Given the description of an element on the screen output the (x, y) to click on. 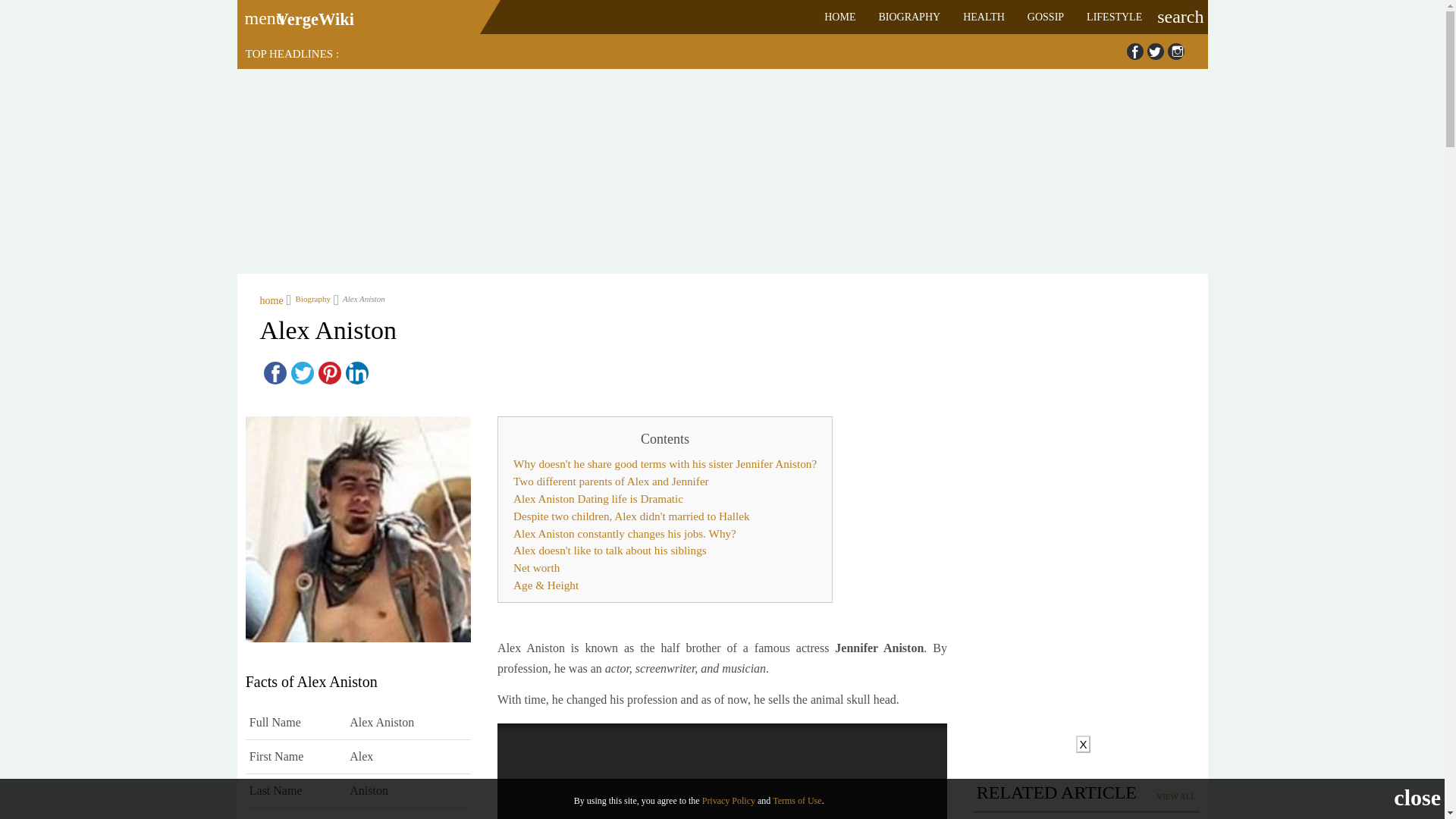
home (270, 298)
American (373, 818)
Terms of Use (797, 800)
HOME (839, 17)
Two different parents of Alex and Jennifer (664, 481)
Privacy Policy (728, 800)
GOSSIP (1045, 17)
menu (259, 13)
VergeWiki (314, 18)
HEALTH (984, 17)
BIOGRAPHY (909, 17)
Biography (308, 298)
LIFESTYLE (1114, 17)
